Given the description of an element on the screen output the (x, y) to click on. 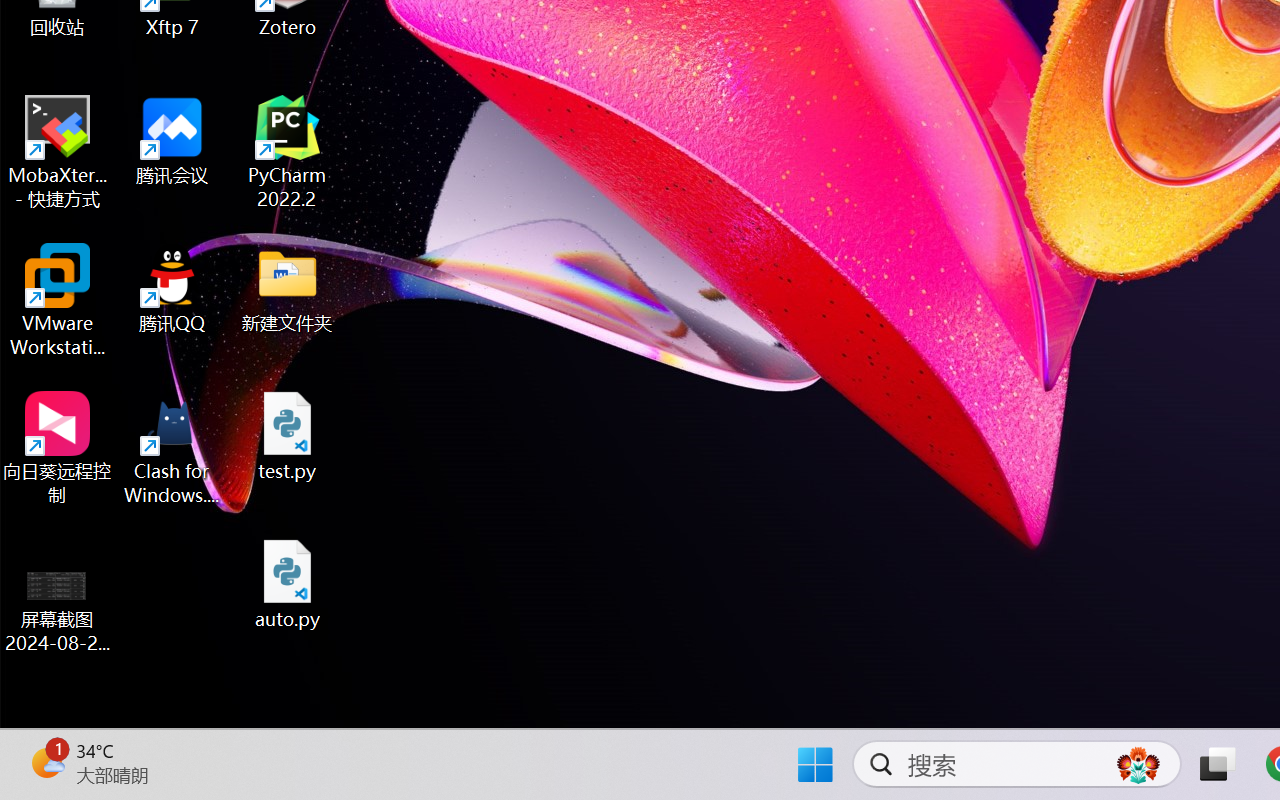
VMware Workstation Pro (57, 300)
PyCharm 2022.2 (287, 152)
